Given the description of an element on the screen output the (x, y) to click on. 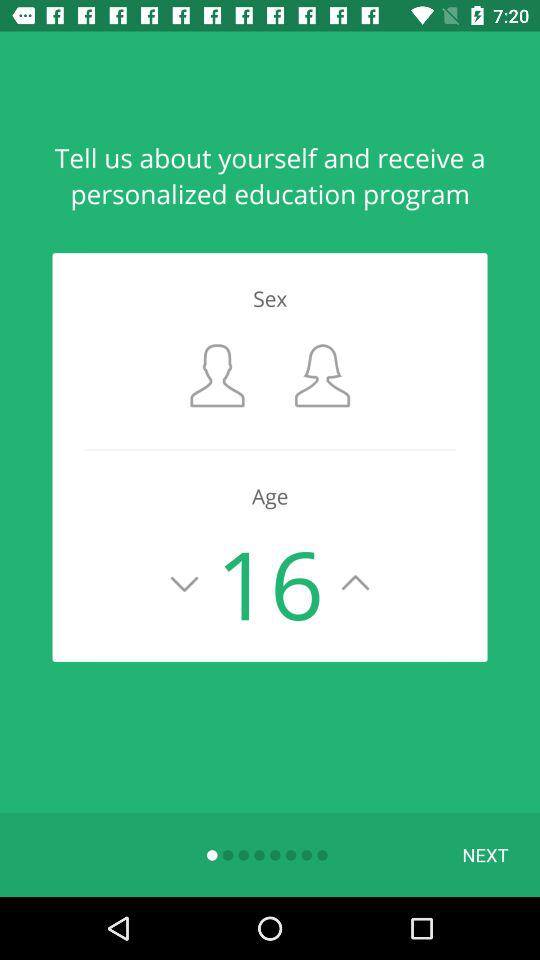
lower age arrow (184, 583)
